Given the description of an element on the screen output the (x, y) to click on. 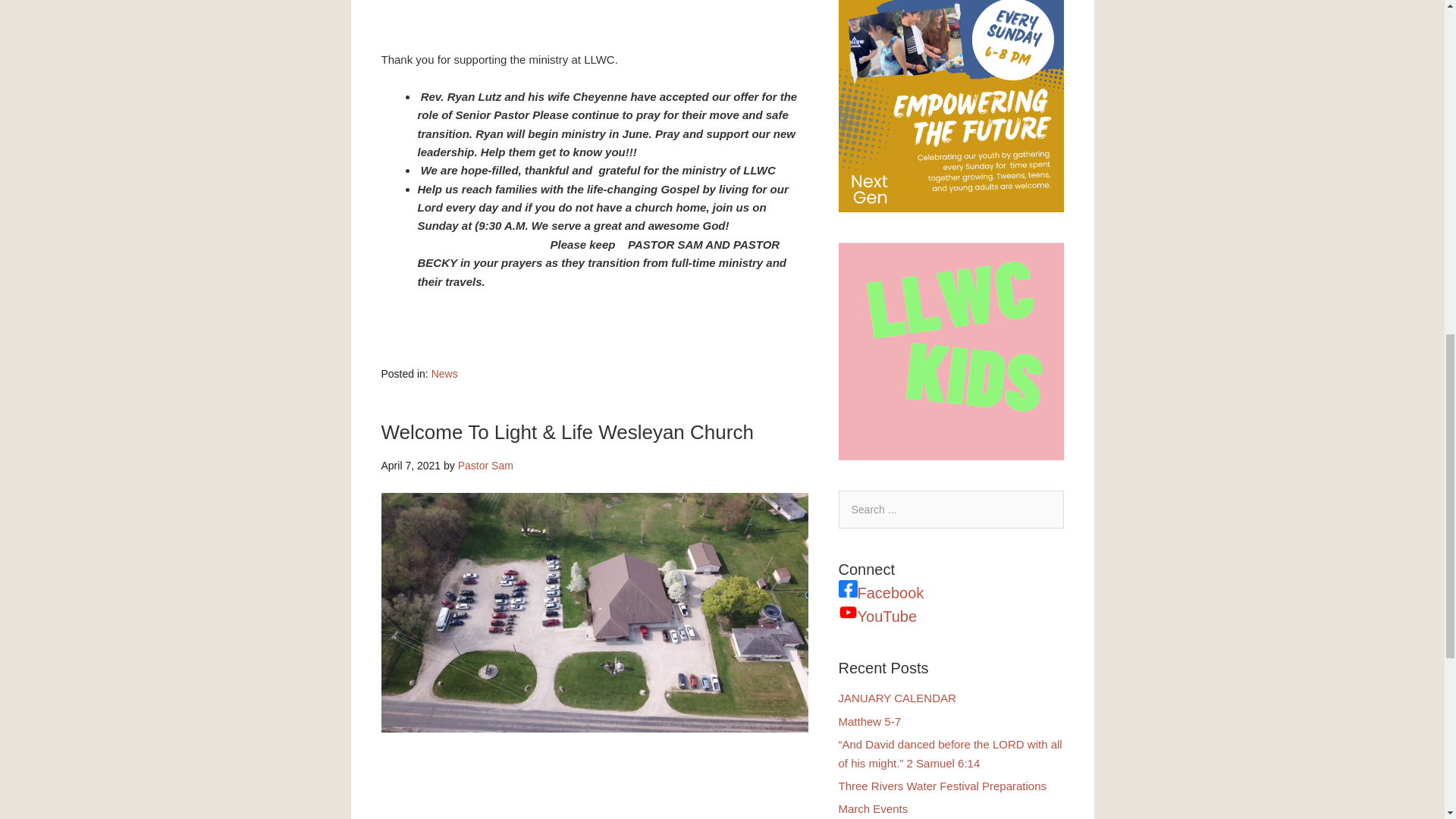
Pastor Sam (485, 465)
Three Rivers Water Festival Preparations (942, 785)
YouTube (887, 616)
Search for: (951, 509)
Facebook (890, 591)
Posts by Pastor Sam (485, 465)
Wednesday, April 7, 2021, 10:09 am (410, 465)
JANUARY CALENDAR (897, 697)
News (444, 373)
March Events (873, 808)
Matthew 5-7 (869, 721)
